Given the description of an element on the screen output the (x, y) to click on. 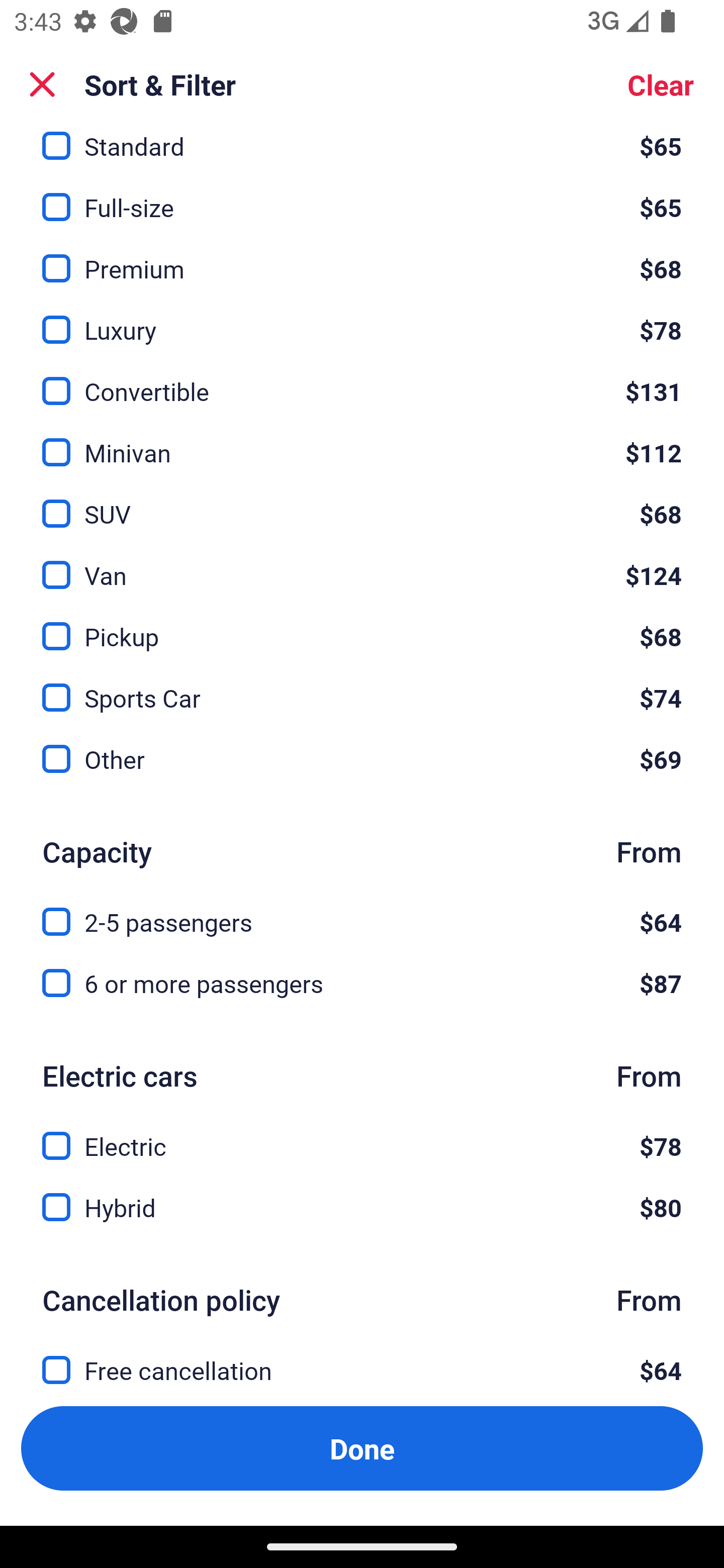
Close Sort and Filter (42, 84)
Clear (660, 84)
Standard, $65 Standard $65 (361, 145)
Full-size, $65 Full-size $65 (361, 195)
Premium, $68 Premium $68 (361, 257)
Luxury, $78 Luxury $78 (361, 318)
Convertible, $131 Convertible $131 (361, 379)
Minivan, $112 Minivan $112 (361, 440)
SUV, $68 SUV $68 (361, 502)
Van, $124 Van $124 (361, 563)
Pickup, $68 Pickup $68 (361, 624)
Sports Car, $74 Sports Car $74 (361, 685)
Other, $69 Other $69 (361, 758)
2-5 passengers, $64 2-5 passengers $64 (361, 909)
6 or more passengers, $87 6 or more passengers $87 (361, 982)
Electric, $78 Electric $78 (361, 1134)
Hybrid, $80 Hybrid $80 (361, 1207)
Free cancellation, $64 Free cancellation $64 (361, 1367)
Apply and close Sort and Filter Done (361, 1448)
